Given the description of an element on the screen output the (x, y) to click on. 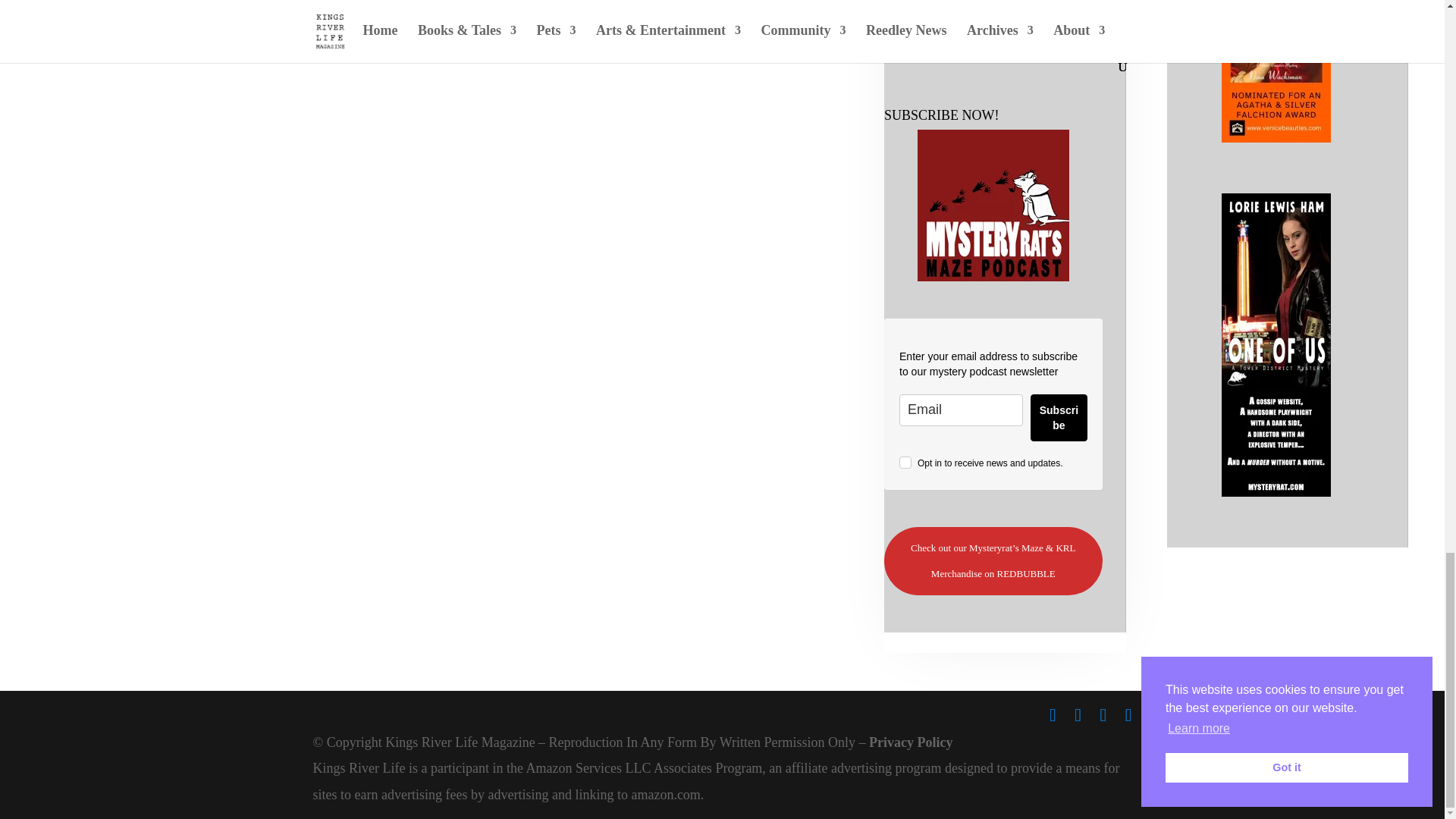
Subscribe now! (992, 205)
